Given the description of an element on the screen output the (x, y) to click on. 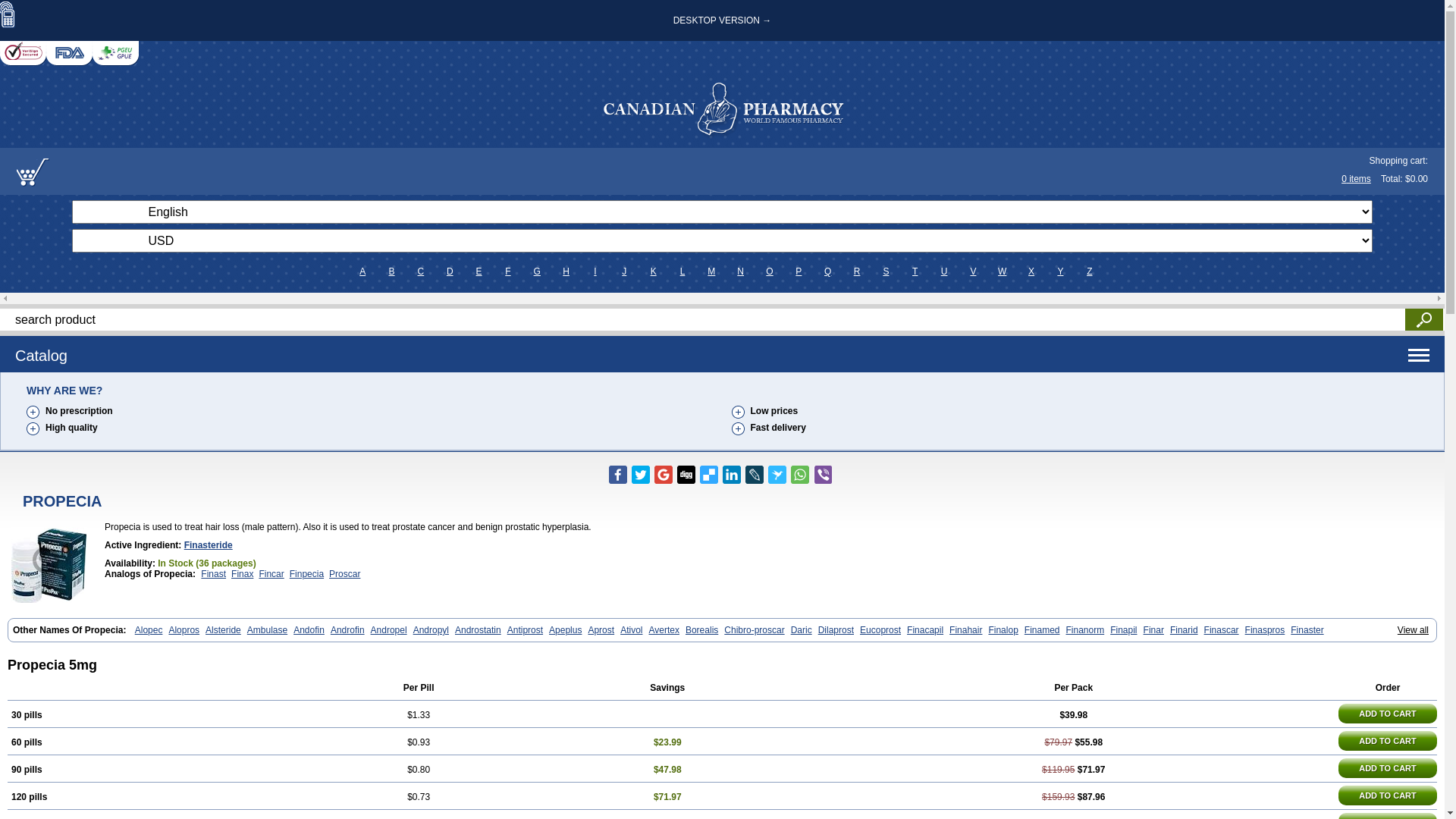
Fincar Element type: text (270, 573)
P Element type: text (798, 271)
Livejournal Element type: hover (753, 474)
Twitter Element type: hover (639, 474)
ADD TO CART Element type: text (1387, 713)
Finaster Element type: text (1306, 629)
Dilaprost Element type: text (835, 629)
Andropel Element type: text (388, 629)
Finahair Element type: text (965, 629)
Finaspros Element type: text (1265, 629)
V Element type: text (973, 271)
Aprost Element type: text (600, 629)
Finar Element type: text (1153, 629)
M Element type: text (711, 271)
Finascar Element type: text (1221, 629)
K Element type: text (653, 271)
L Element type: text (681, 271)
Androstatin Element type: text (478, 629)
ADD TO CART Element type: text (1387, 740)
Whatsapp Element type: hover (799, 474)
Surfingbird Element type: hover (776, 474)
Alsteride Element type: text (223, 629)
LinkedIn Element type: hover (730, 474)
Google+ Element type: hover (662, 474)
Borealis Element type: text (701, 629)
Antiprost Element type: text (524, 629)
H Element type: text (565, 271)
G Element type: text (537, 271)
Facebook Element type: hover (617, 474)
Finpecia Element type: text (306, 573)
Daric Element type: text (801, 629)
Finanorm Element type: text (1085, 629)
ADD TO CART Element type: text (1387, 768)
ADD TO CART Element type: text (1387, 795)
Alopec Element type: text (148, 629)
D Element type: text (449, 271)
Andofin Element type: text (308, 629)
Proscar Element type: text (344, 573)
U Element type: text (944, 271)
O Element type: text (769, 271)
Delicious Element type: hover (708, 474)
X Element type: text (1031, 271)
A Element type: text (362, 271)
Finalop Element type: text (1002, 629)
Finasteride Element type: text (208, 544)
Finarid Element type: text (1184, 629)
Finapil Element type: text (1123, 629)
Androfin Element type: text (347, 629)
S Element type: text (885, 271)
J Element type: text (624, 271)
Finamed Element type: text (1042, 629)
Digg Element type: hover (685, 474)
Andropyl Element type: text (430, 629)
N Element type: text (740, 271)
I Element type: text (594, 271)
W Element type: text (1001, 271)
Chibro-proscar Element type: text (754, 629)
E Element type: text (478, 271)
Eucoprost Element type: text (879, 629)
Ambulase Element type: text (267, 629)
B Element type: text (391, 271)
T Element type: text (914, 271)
Alopros Element type: text (183, 629)
R Element type: text (857, 271)
Ativol Element type: text (631, 629)
Finast Element type: text (212, 573)
C Element type: text (420, 271)
Z Element type: text (1089, 271)
Shopping cart:
0 items    Total: $0.00 Element type: text (722, 170)
Viber Element type: hover (821, 474)
Finacapil Element type: text (924, 629)
Y Element type: text (1060, 271)
Apeplus Element type: text (565, 629)
Propecia Element type: hover (49, 564)
Finax Element type: text (242, 573)
Q Element type: text (827, 271)
F Element type: text (507, 271)
Avertex Element type: text (663, 629)
